Given the description of an element on the screen output the (x, y) to click on. 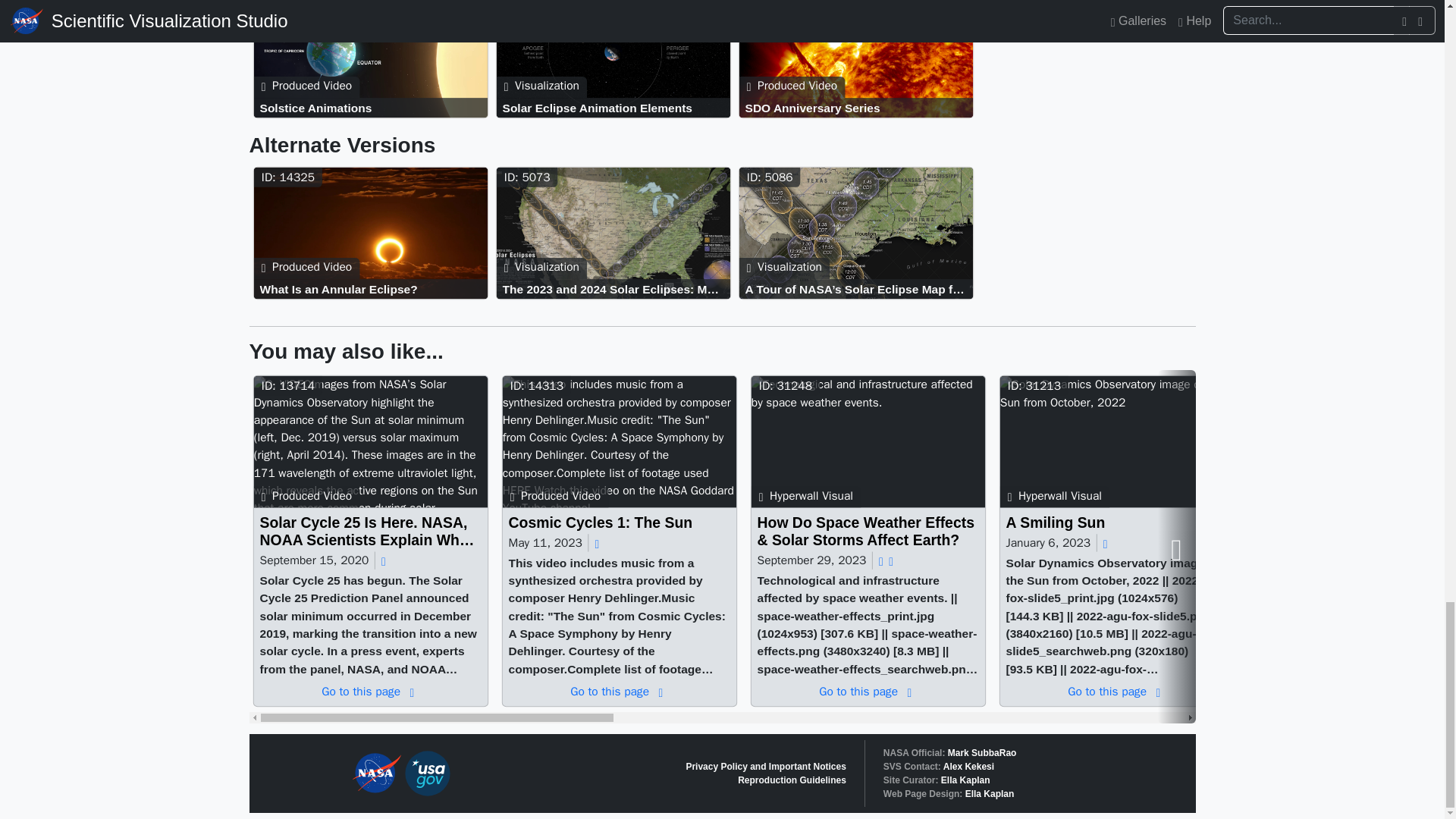
Go to this page (616, 288)
Go to this page (373, 107)
Go to this page (616, 61)
Go to this page (616, 107)
Go to this page (616, 235)
Go to this page (374, 61)
Go to this page (374, 235)
Go to this page (373, 288)
Go to this page (858, 61)
Go to this page (859, 107)
